Given the description of an element on the screen output the (x, y) to click on. 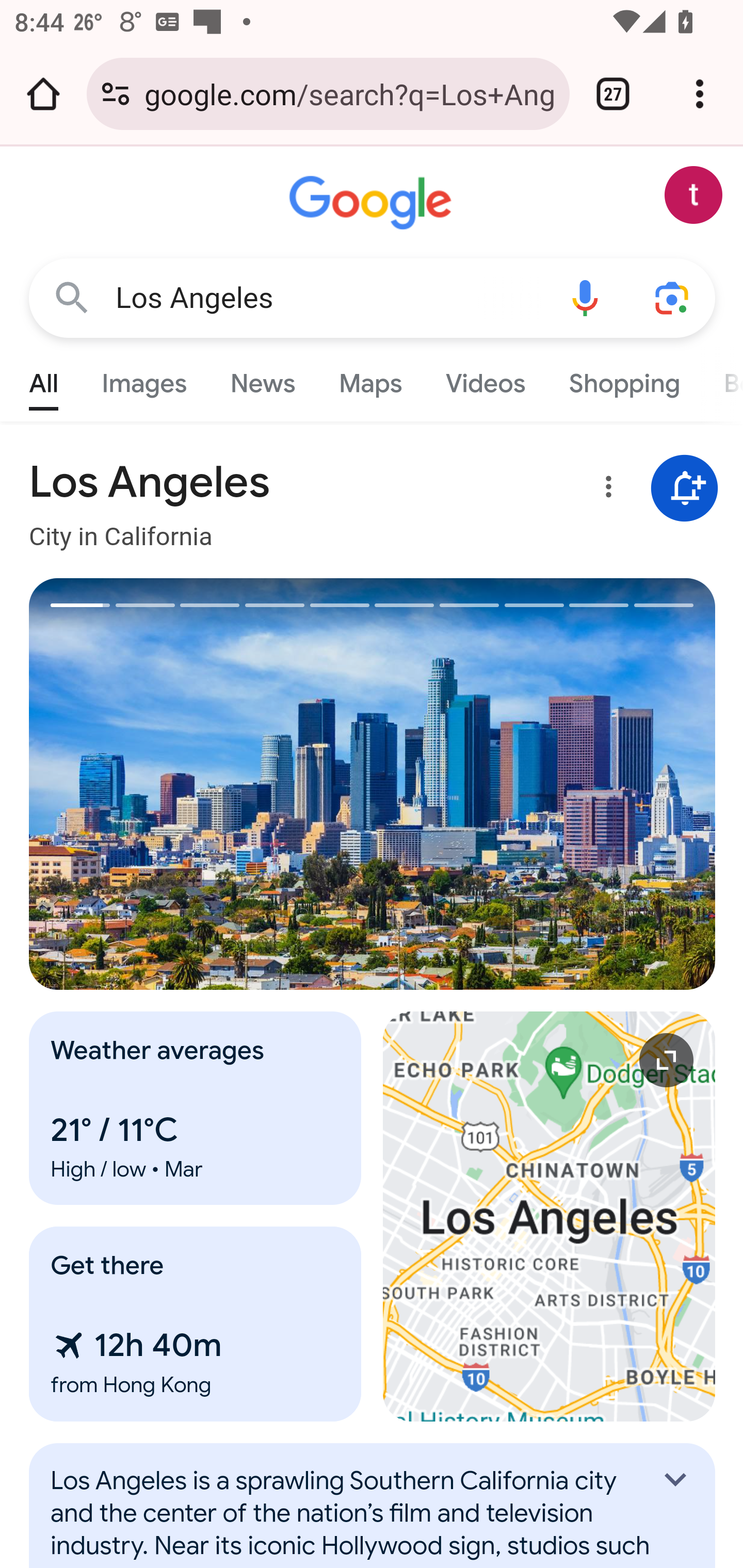
Open the home page (43, 93)
Connection is secure (115, 93)
Switch or close tabs (612, 93)
Customize and control Google Chrome (699, 93)
Google (372, 203)
Google Search (71, 296)
Search using your camera or photos (672, 296)
Los Angeles (328, 297)
Images (144, 378)
News (262, 378)
Maps (369, 378)
Videos (485, 378)
Shopping (623, 378)
Get notifications about Los Angeles (684, 489)
More options (605, 489)
Previous image (200, 783)
Next image (544, 783)
Weather averages 21° / 11°C High / low • Mar (195, 1108)
Expand map (549, 1216)
